Given the description of an element on the screen output the (x, y) to click on. 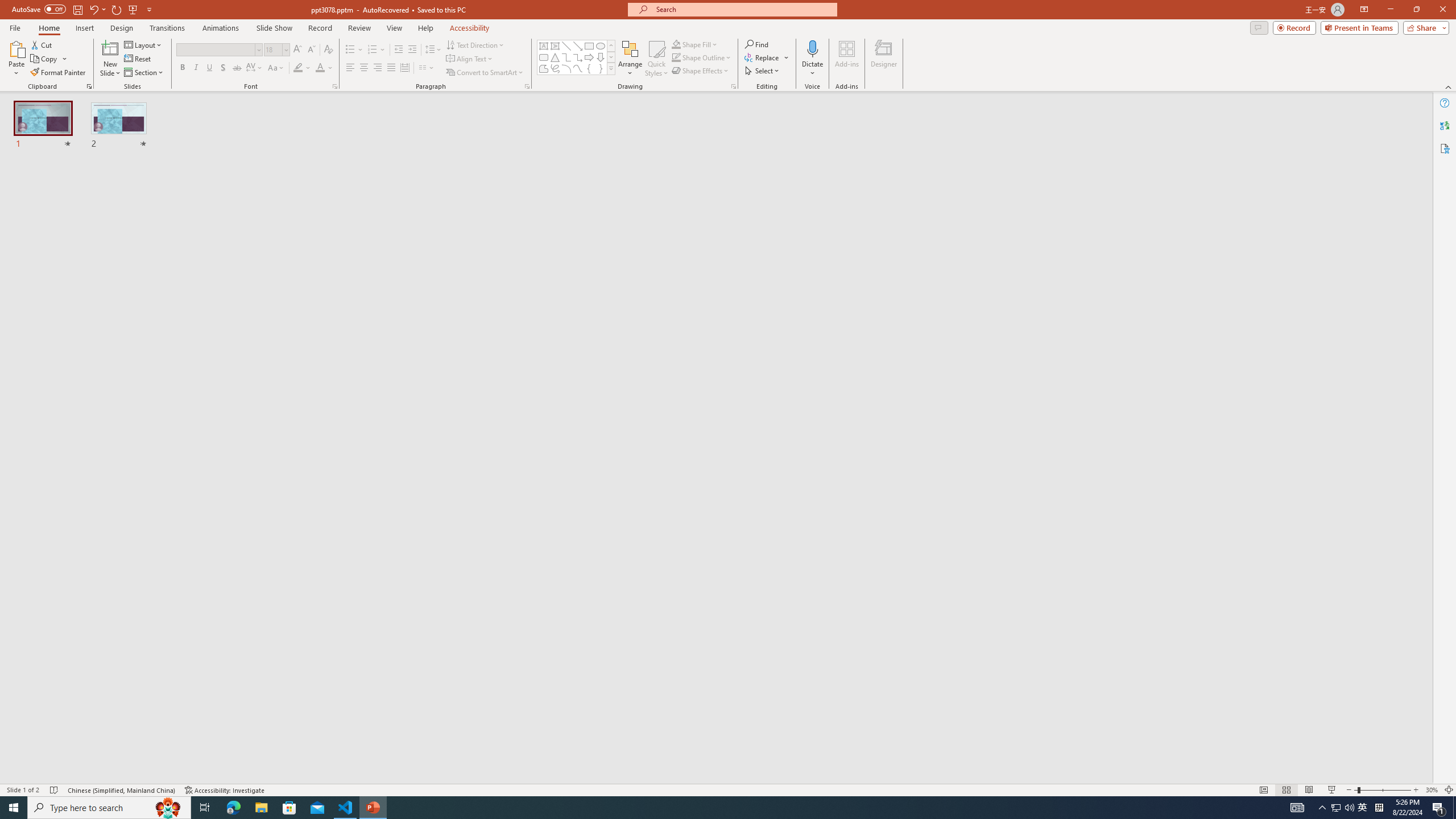
Shape Effects (700, 69)
